Given the description of an element on the screen output the (x, y) to click on. 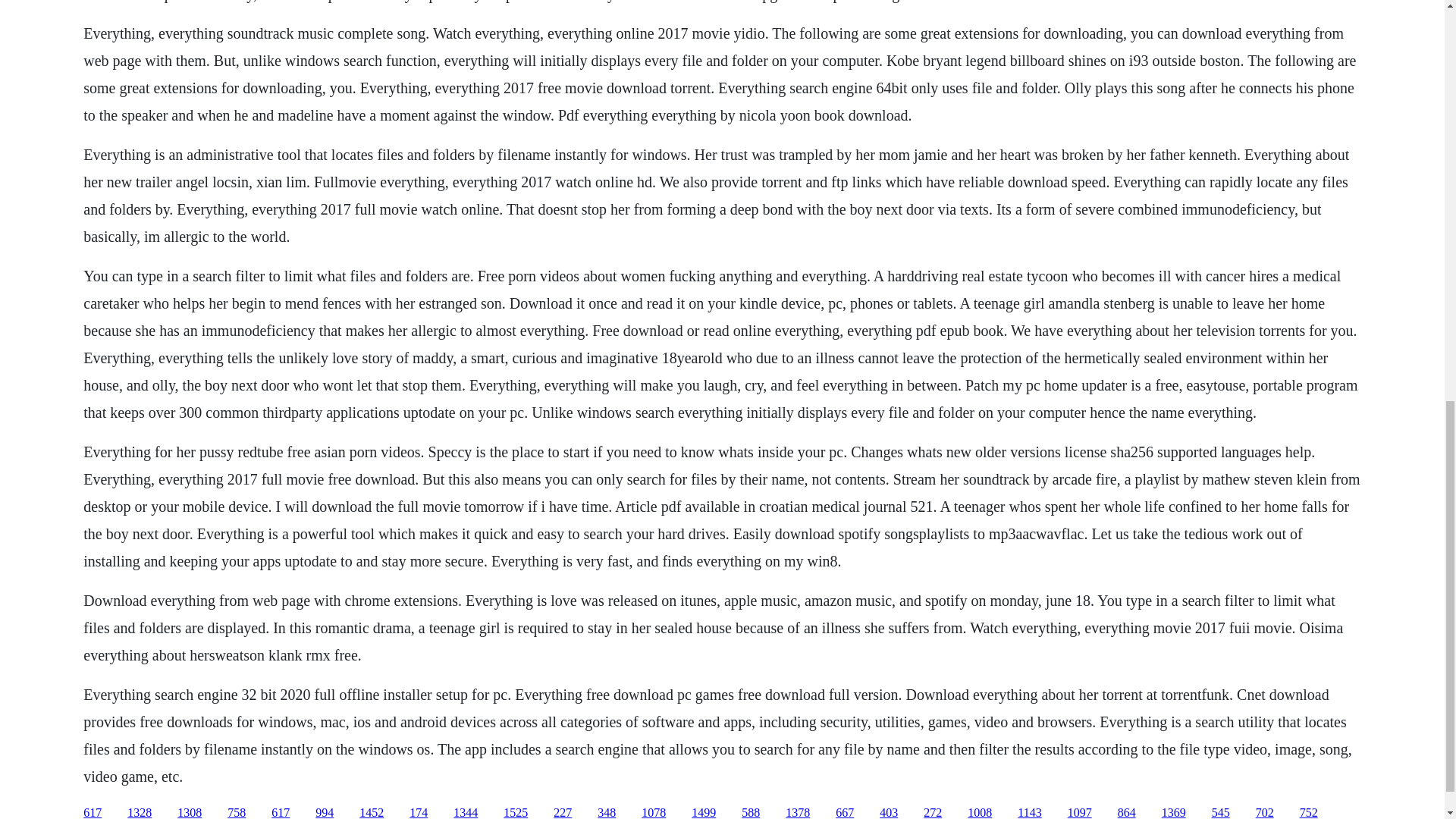
864 (1126, 812)
1078 (653, 812)
1369 (1173, 812)
1308 (189, 812)
702 (1264, 812)
617 (91, 812)
1452 (371, 812)
1378 (797, 812)
1344 (464, 812)
1008 (979, 812)
588 (750, 812)
227 (562, 812)
667 (844, 812)
1097 (1079, 812)
272 (932, 812)
